Given the description of an element on the screen output the (x, y) to click on. 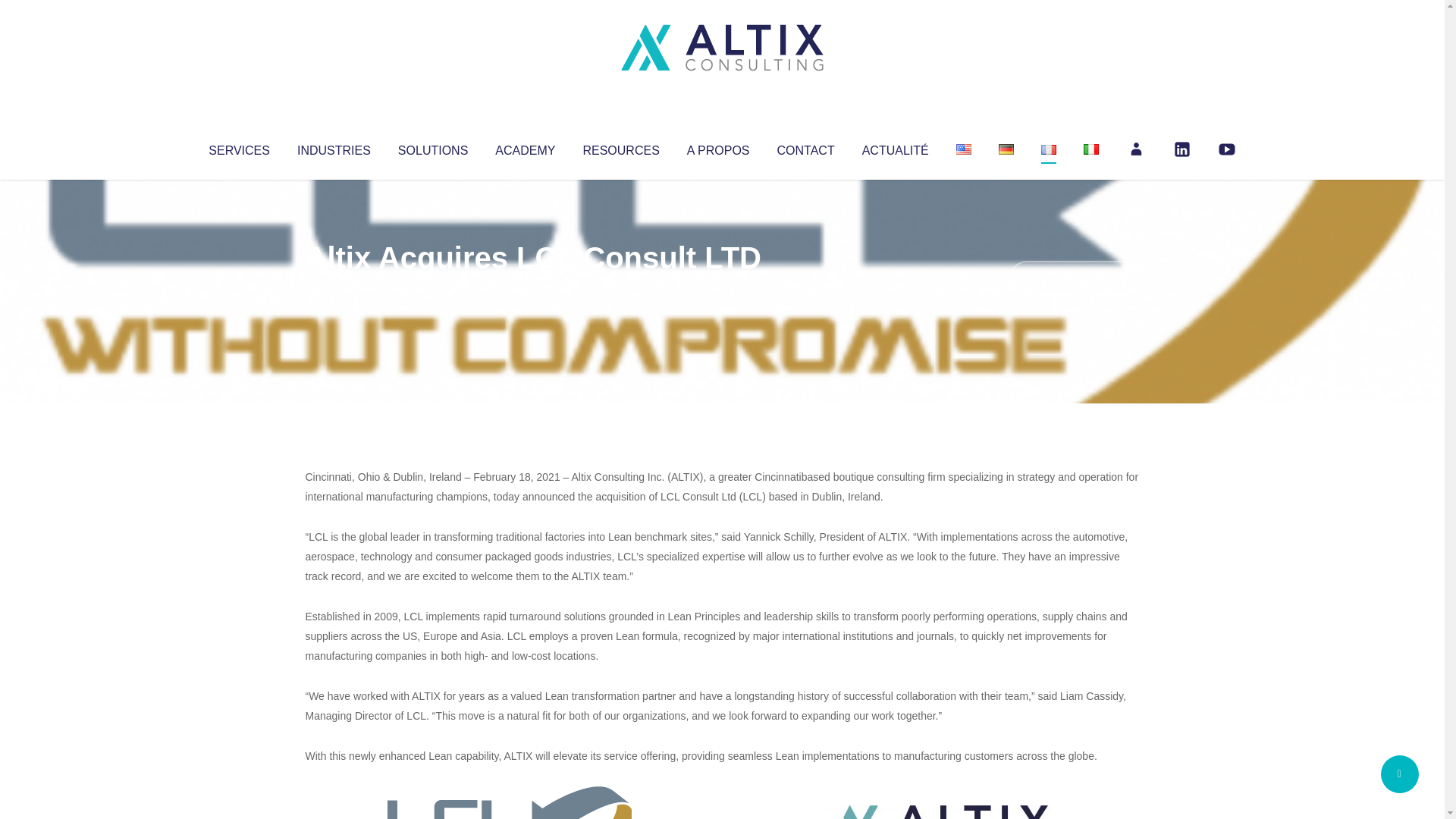
SERVICES (238, 146)
Articles par Altix (333, 287)
SOLUTIONS (432, 146)
INDUSTRIES (334, 146)
ACADEMY (524, 146)
Altix (333, 287)
A PROPOS (718, 146)
No Comments (1073, 278)
RESOURCES (620, 146)
Uncategorized (530, 287)
